Given the description of an element on the screen output the (x, y) to click on. 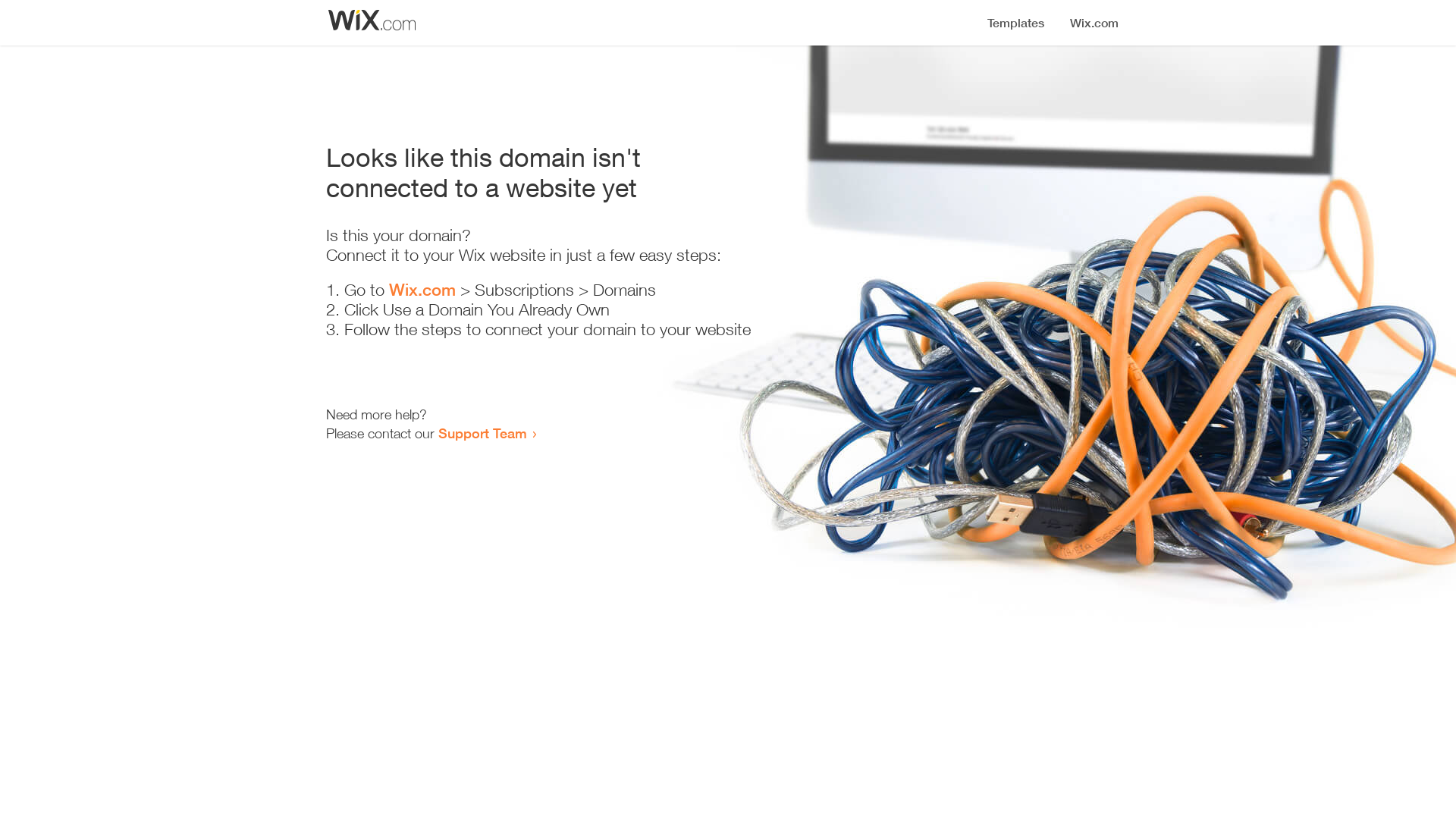
Wix.com Element type: text (422, 289)
Support Team Element type: text (482, 432)
